Given the description of an element on the screen output the (x, y) to click on. 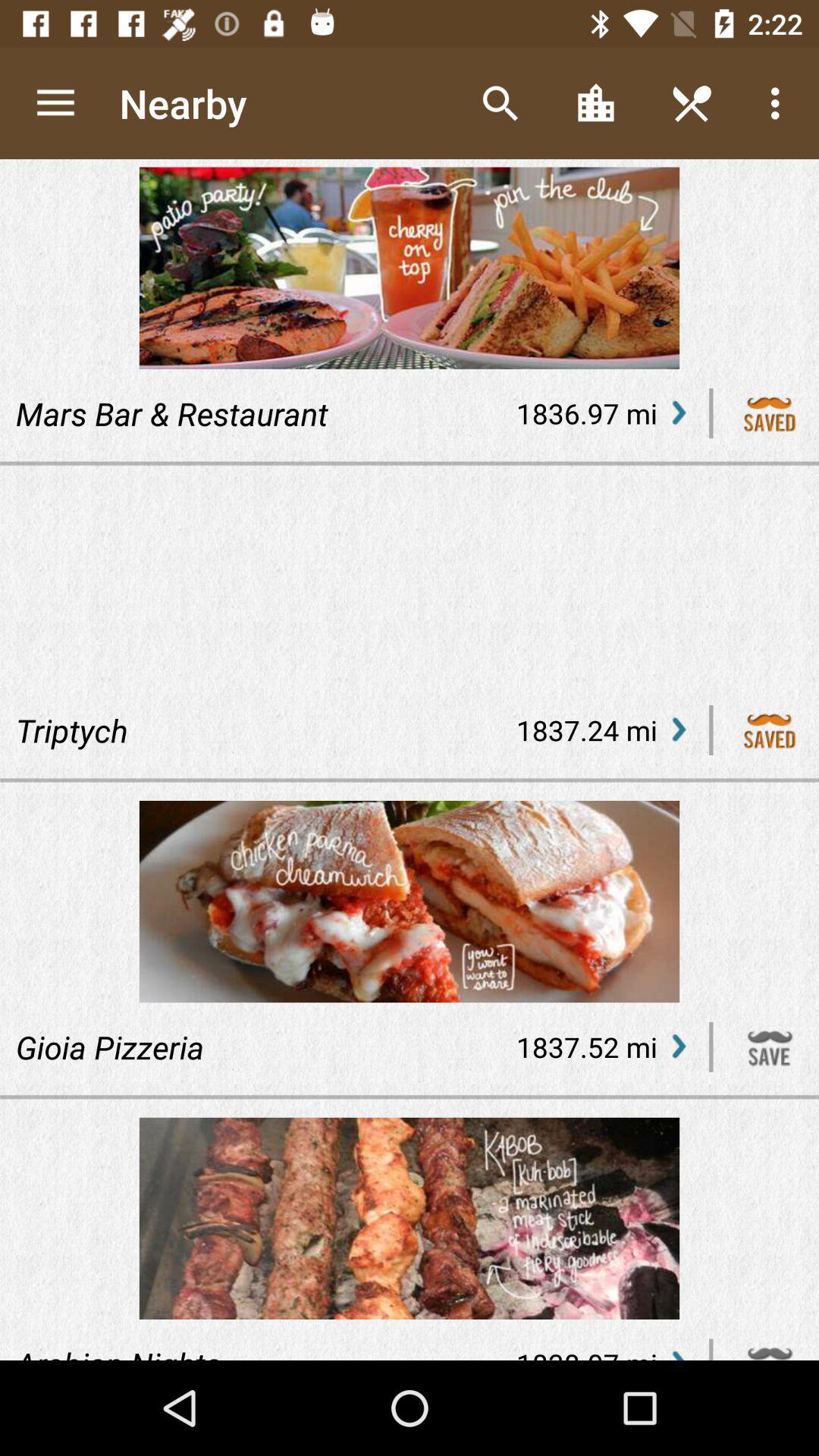
tap the icon above the mars bar & restaurant  item (55, 103)
